Given the description of an element on the screen output the (x, y) to click on. 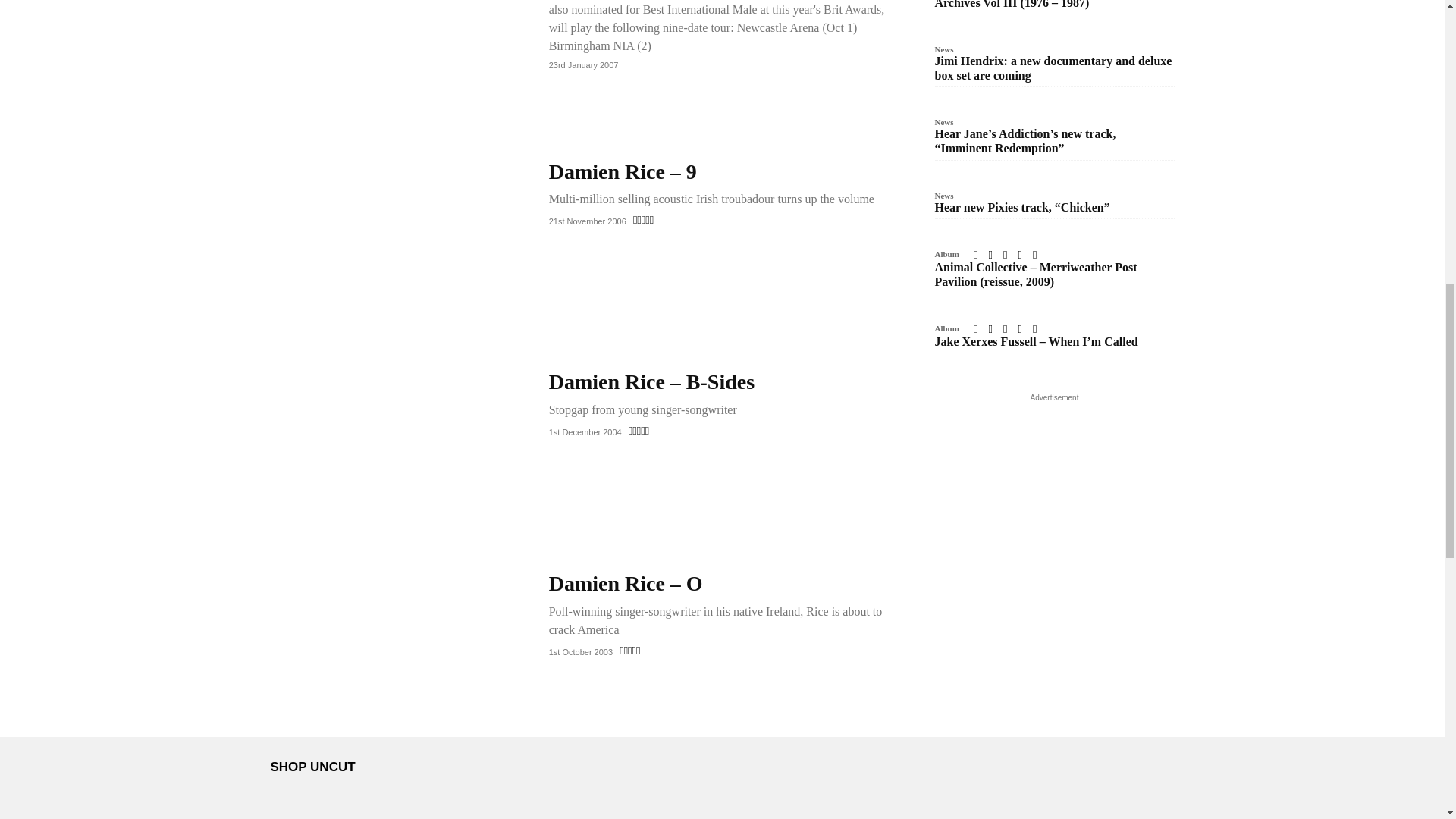
Damien Rice Announces UK Arena Tour (395, 3)
